Given the description of an element on the screen output the (x, y) to click on. 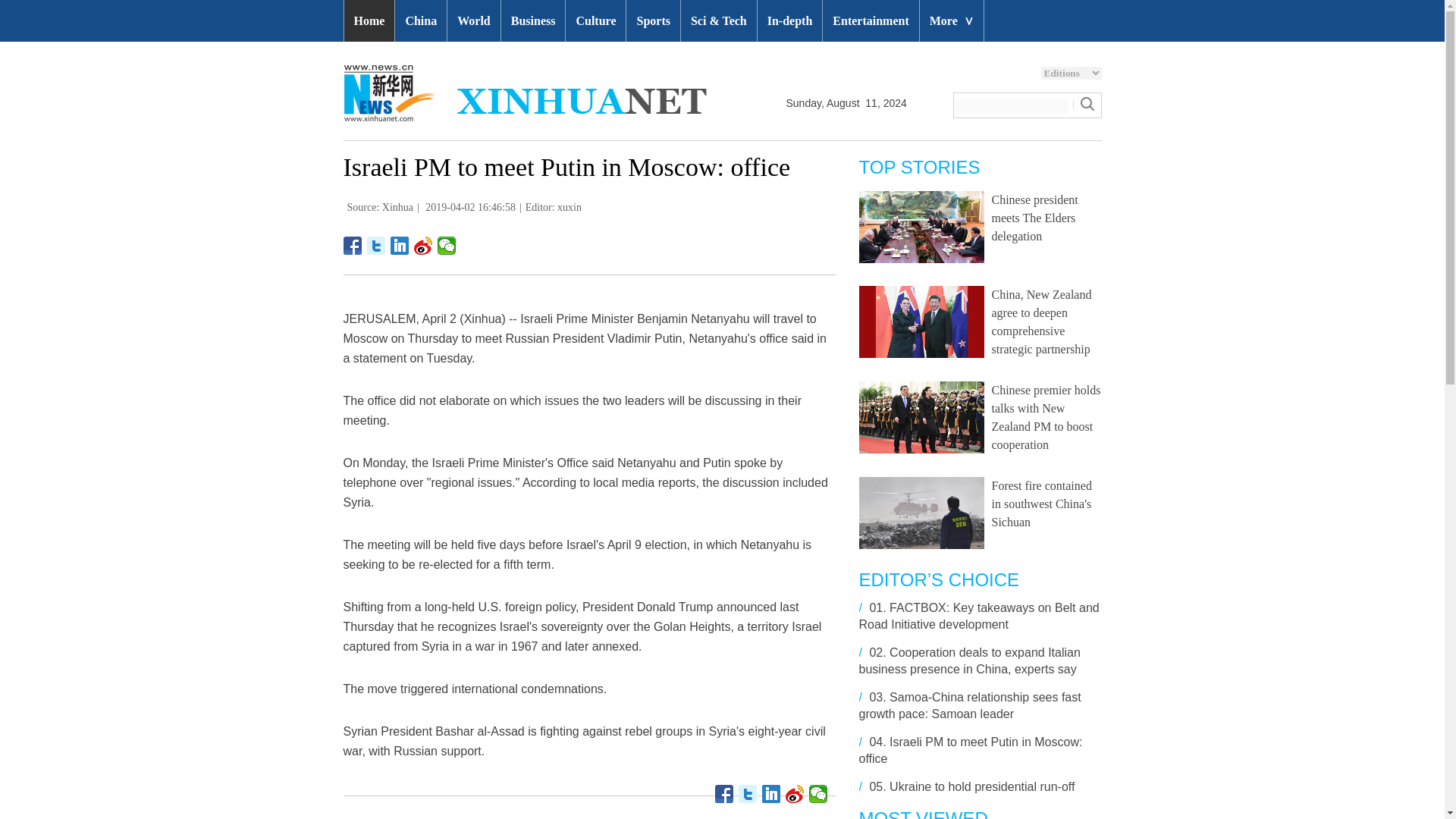
Business (533, 20)
Culture (596, 20)
Home (368, 20)
World (473, 20)
Entertainment (870, 20)
Sports (652, 20)
China (420, 20)
In-depth (789, 20)
